Given the description of an element on the screen output the (x, y) to click on. 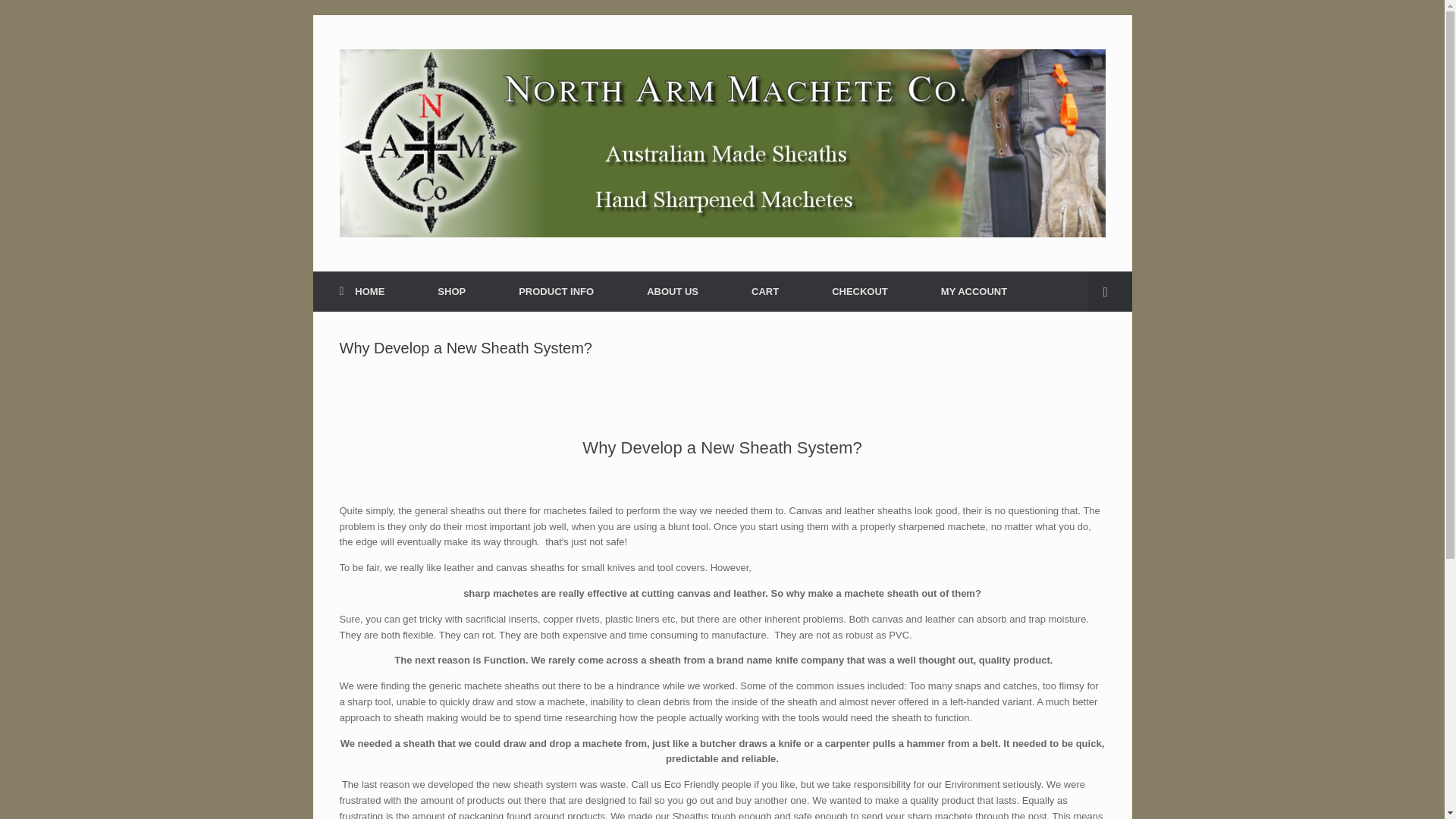
CHECKOUT (859, 291)
HOME (361, 291)
SHOP (451, 291)
CART (765, 291)
MY ACCOUNT (973, 291)
ABOUT US (672, 291)
PRODUCT INFO (556, 291)
